Given the description of an element on the screen output the (x, y) to click on. 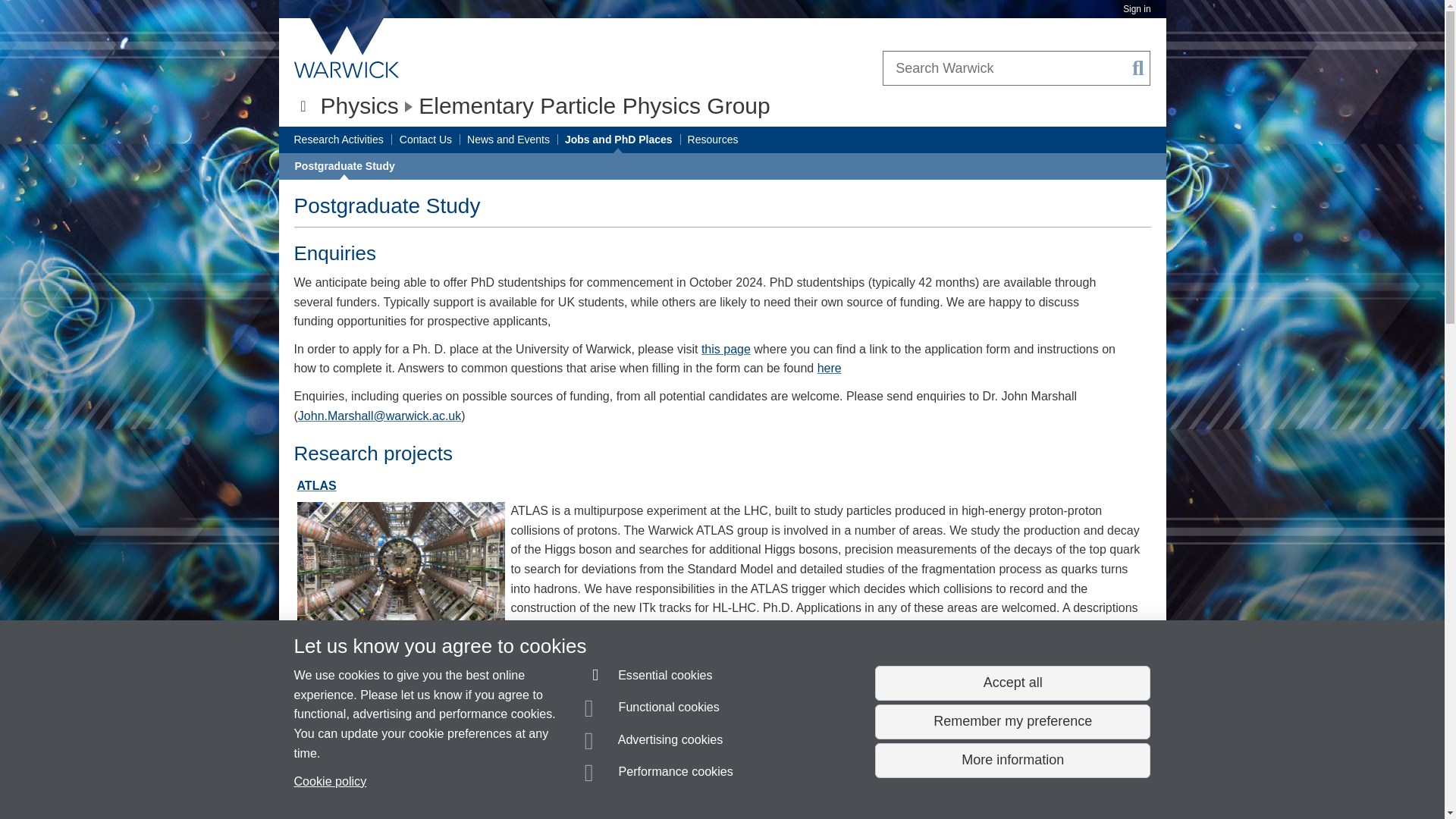
ATLAS at Warwick (401, 567)
Contact Us (424, 139)
Jobs and PhD Places (618, 139)
Sign in (1136, 9)
Physics (358, 105)
ATLAS experiment at the LHC (316, 485)
University of Warwick homepage (346, 48)
Elementary Particle Physics Group (594, 105)
Research Activities (339, 139)
Physics home page (358, 105)
News and Events (508, 139)
